Given the description of an element on the screen output the (x, y) to click on. 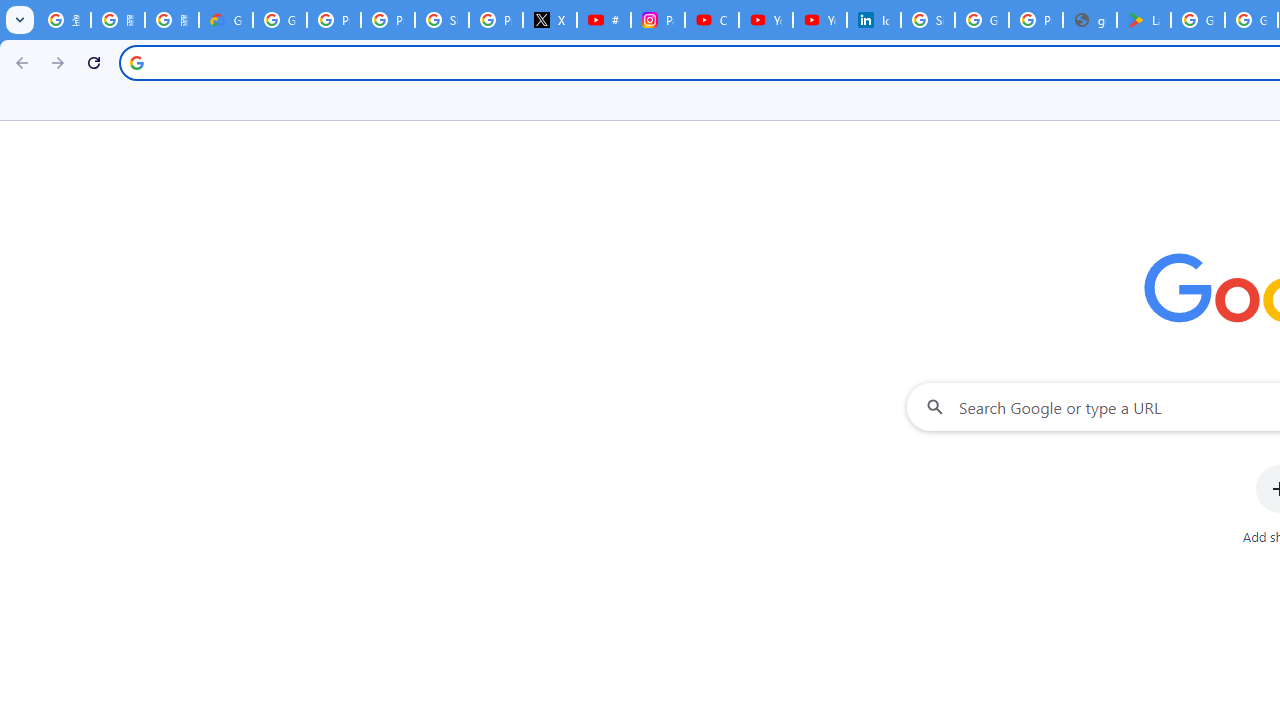
google_privacy_policy_en.pdf (1089, 20)
Google Cloud Privacy Notice (225, 20)
X (550, 20)
Privacy Help Center - Policies Help (387, 20)
YouTube Culture & Trends - YouTube Top 10, 2021 (819, 20)
